Given the description of an element on the screen output the (x, y) to click on. 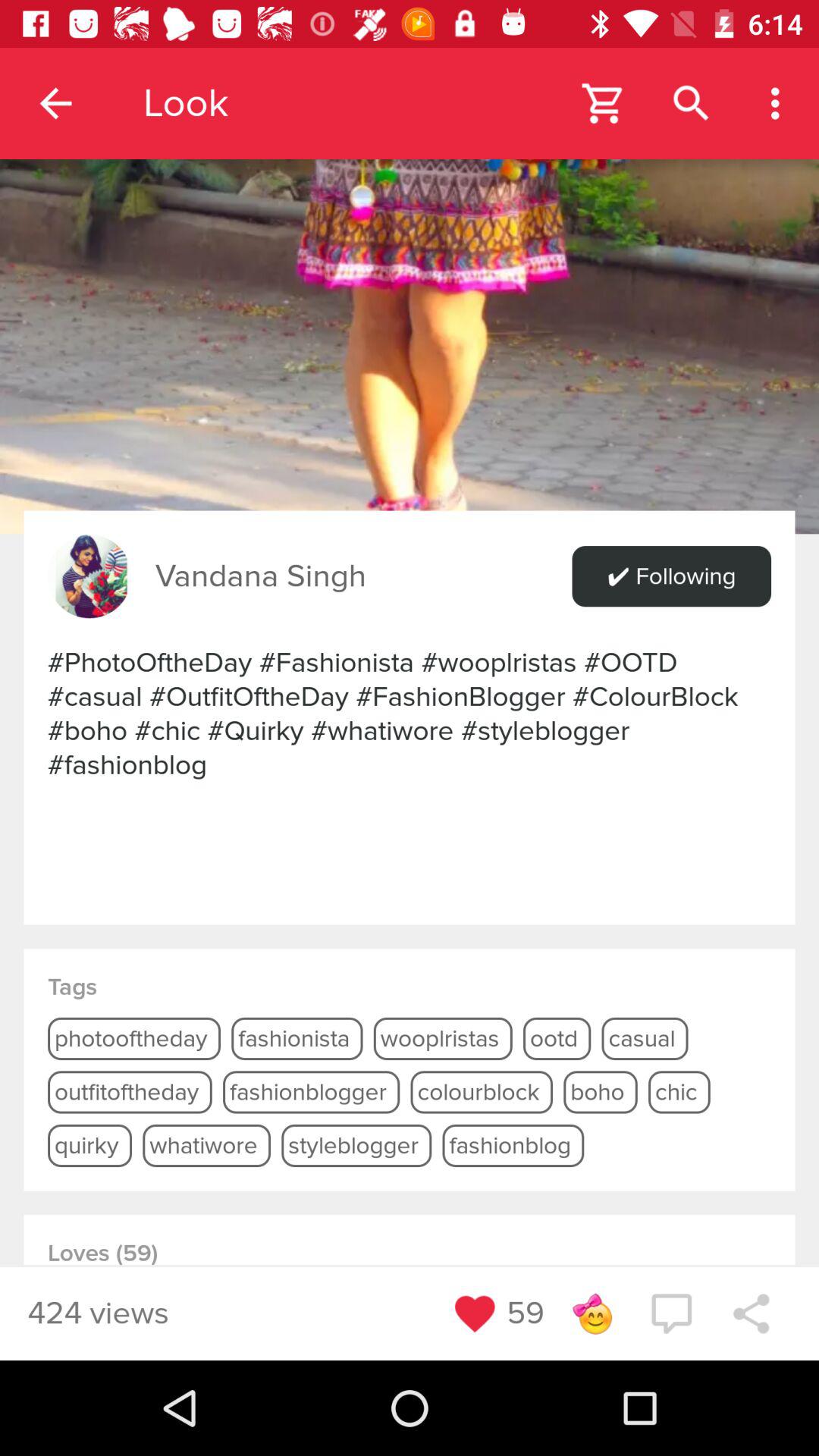
like button (474, 1313)
